Given the description of an element on the screen output the (x, y) to click on. 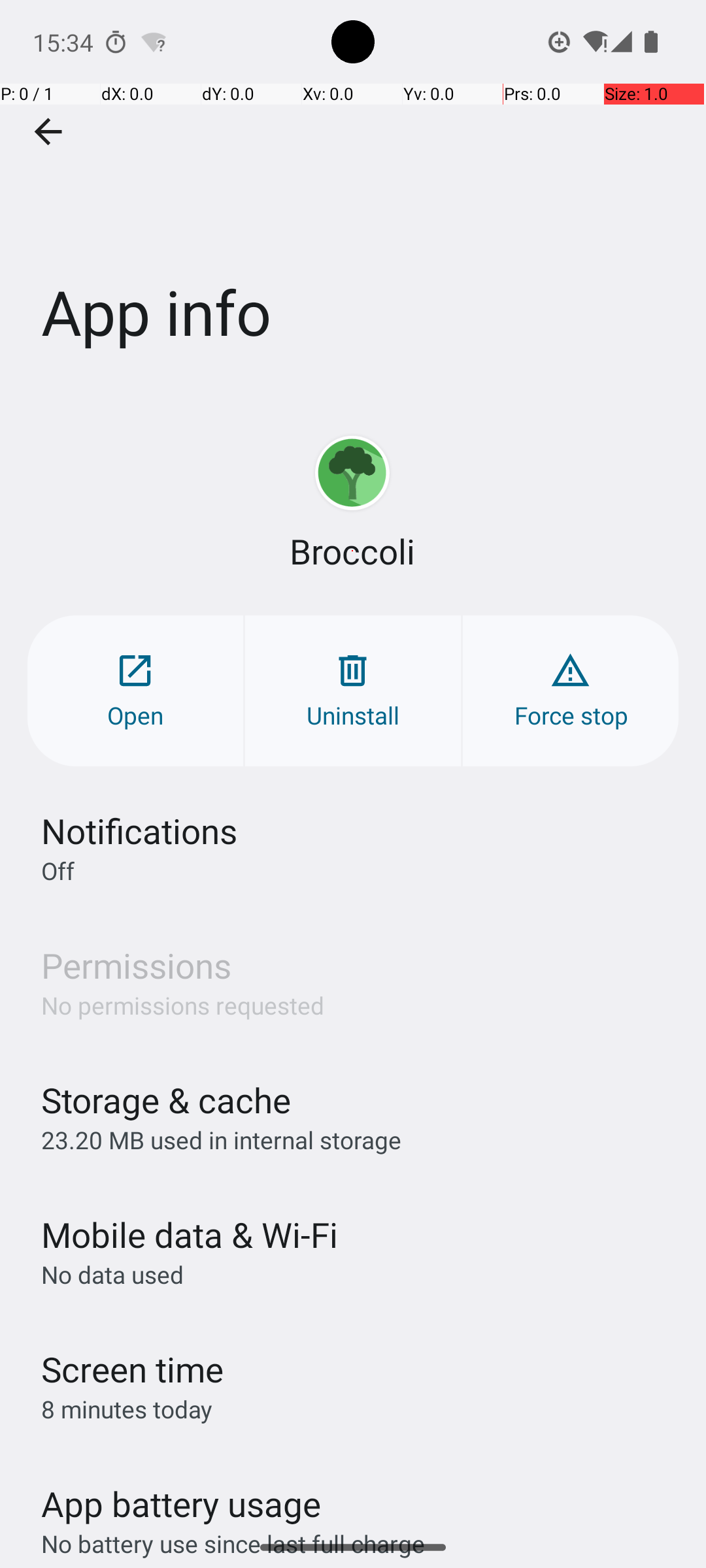
No permissions requested Element type: android.widget.TextView (182, 1004)
23.20 MB used in internal storage Element type: android.widget.TextView (221, 1139)
8 minutes today Element type: android.widget.TextView (127, 1408)
